Given the description of an element on the screen output the (x, y) to click on. 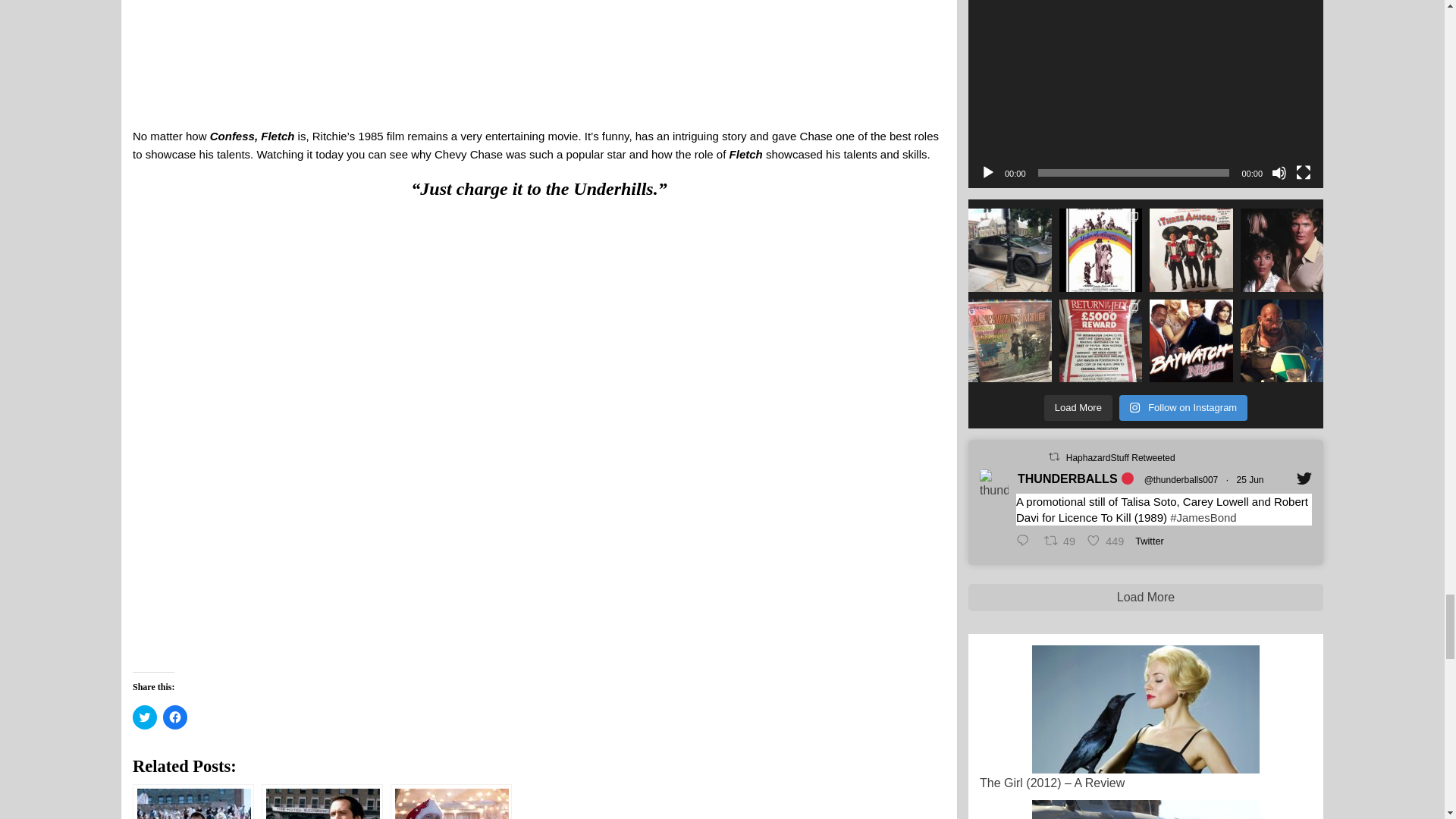
Click to share on Twitter (144, 717)
Click to share on Facebook (175, 717)
